Given the description of an element on the screen output the (x, y) to click on. 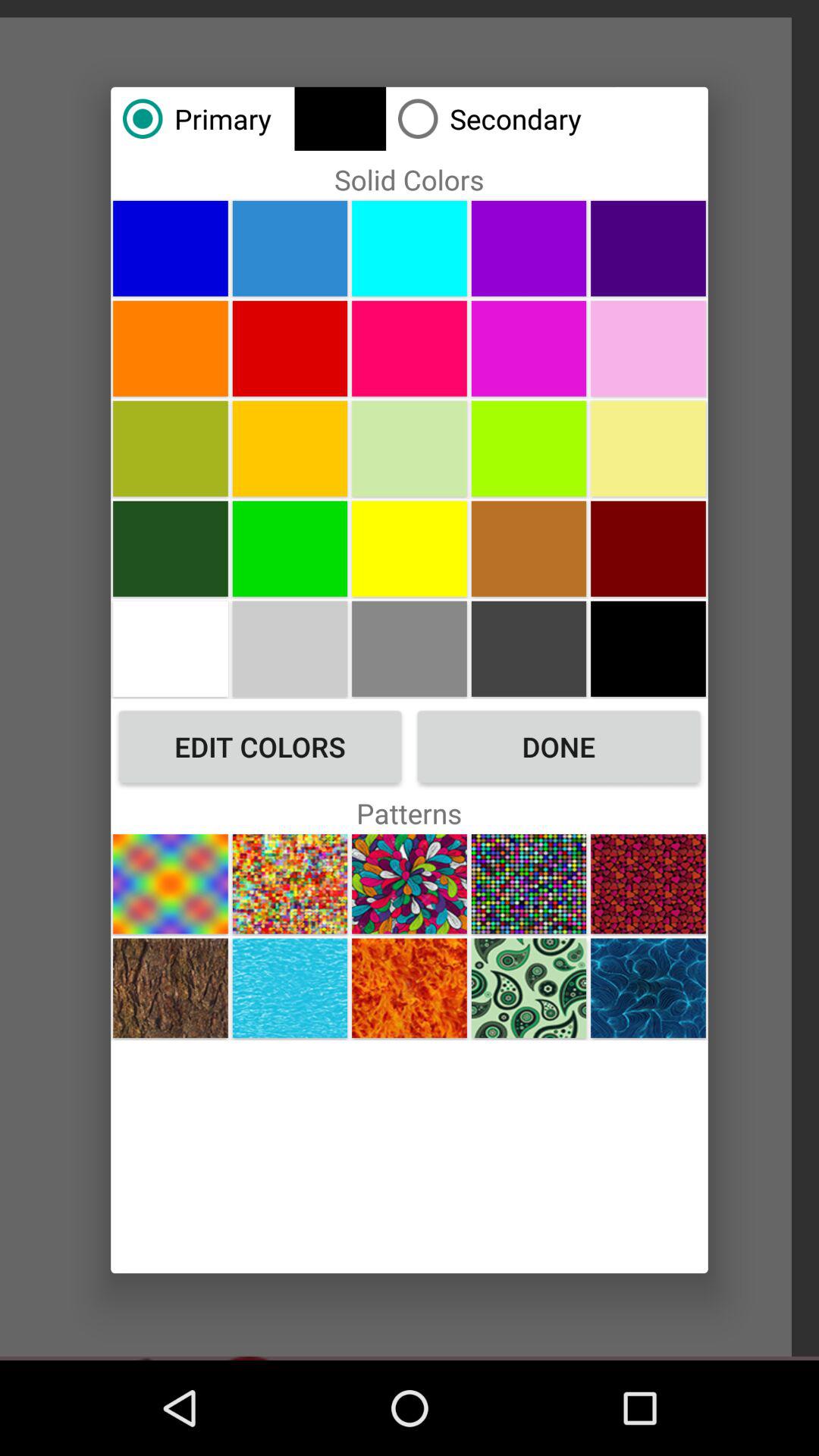
first pattern (170, 883)
